Given the description of an element on the screen output the (x, y) to click on. 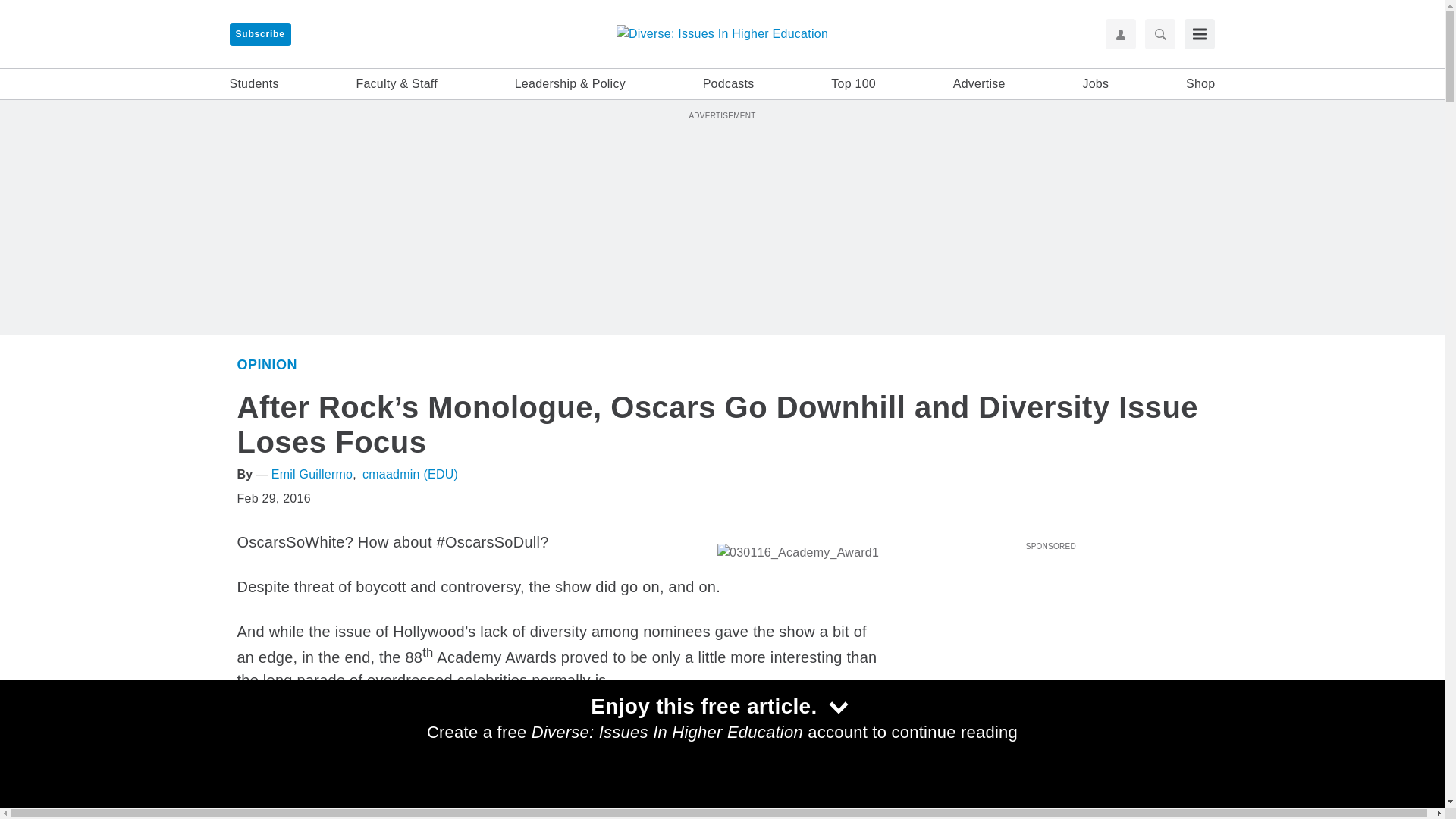
Advertise (979, 84)
Opinion (266, 364)
Jobs (1094, 84)
Subscribe (258, 33)
Youtube Player (1050, 641)
Subscribe (258, 33)
Opinion (917, 811)
Top 100 (853, 84)
Students (253, 84)
Shop (1200, 84)
